Given the description of an element on the screen output the (x, y) to click on. 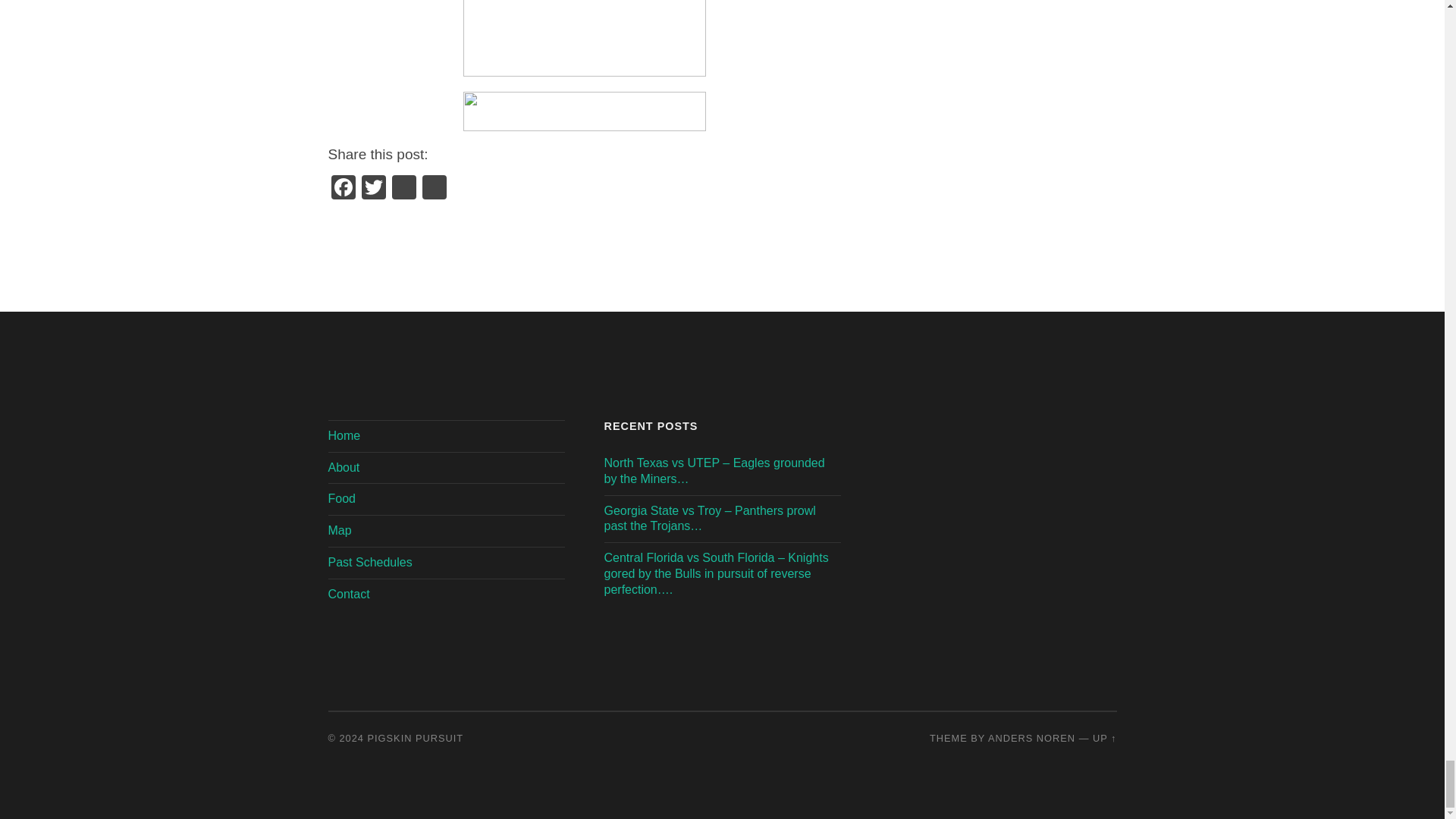
Pinterest (403, 189)
Twitter (373, 189)
Facebook (342, 189)
Email (433, 189)
